Given the description of an element on the screen output the (x, y) to click on. 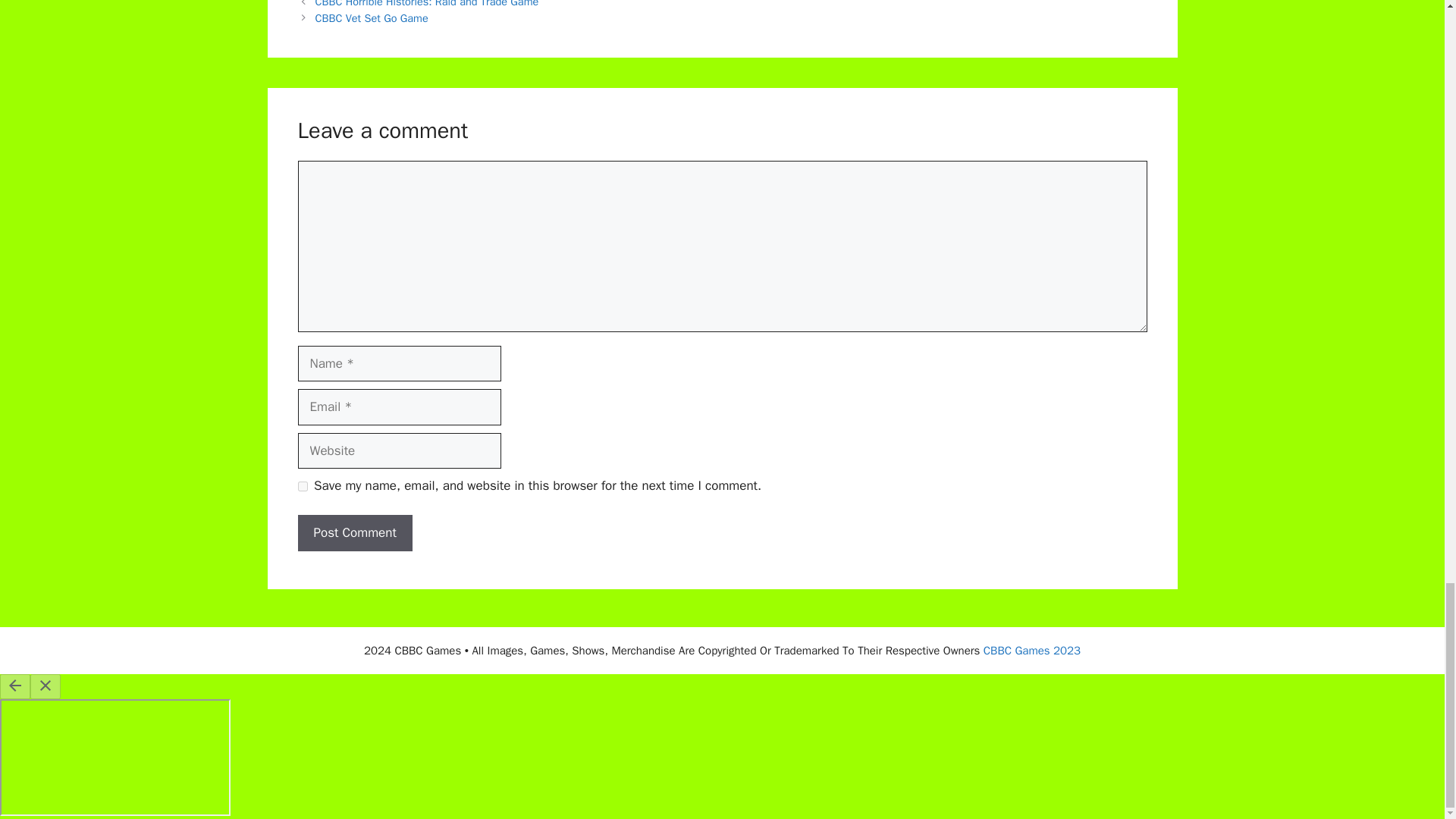
yes (302, 486)
Post Comment (354, 533)
